Given the description of an element on the screen output the (x, y) to click on. 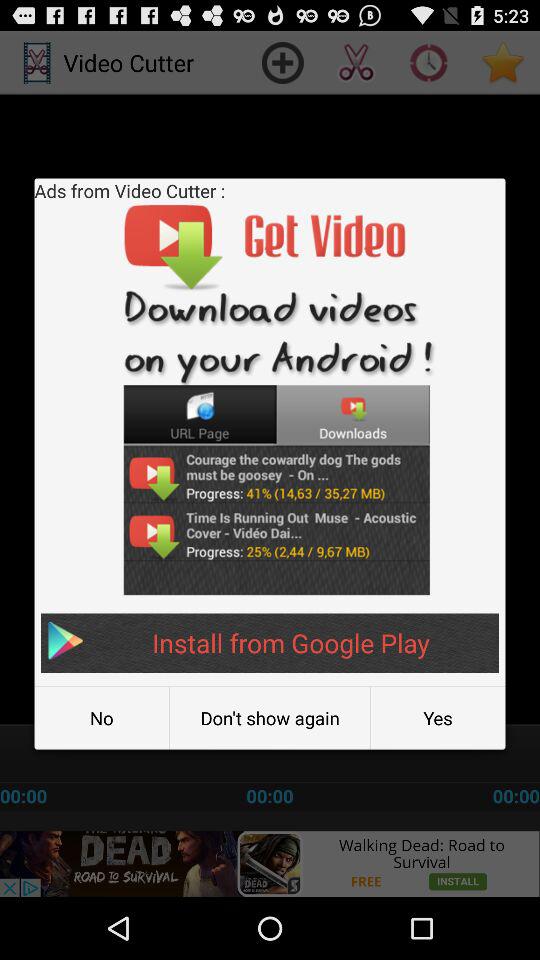
jump to no (101, 717)
